Given the description of an element on the screen output the (x, y) to click on. 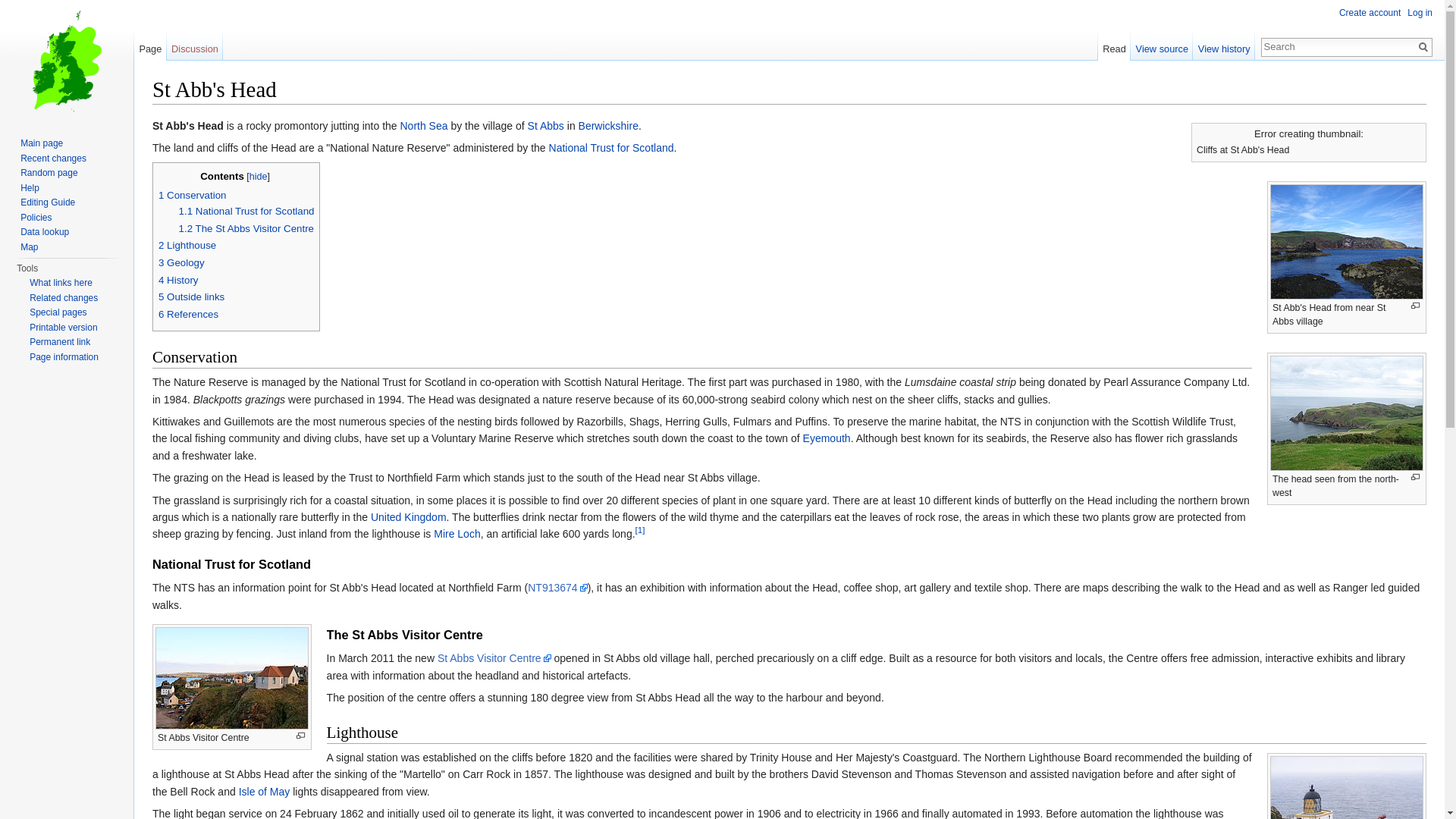
1 Conservation (191, 194)
North Sea (424, 125)
St Abbs (545, 125)
Eyemouth (826, 438)
Enlarge (1415, 477)
St Abbs (545, 125)
Eyemouth (826, 438)
Isle of May (263, 791)
hide (257, 176)
Go (1423, 46)
St Abbs Visitor Centre (494, 657)
Enlarge (1415, 306)
National Trust for Scotland (611, 147)
3 Geology (181, 262)
